Given the description of an element on the screen output the (x, y) to click on. 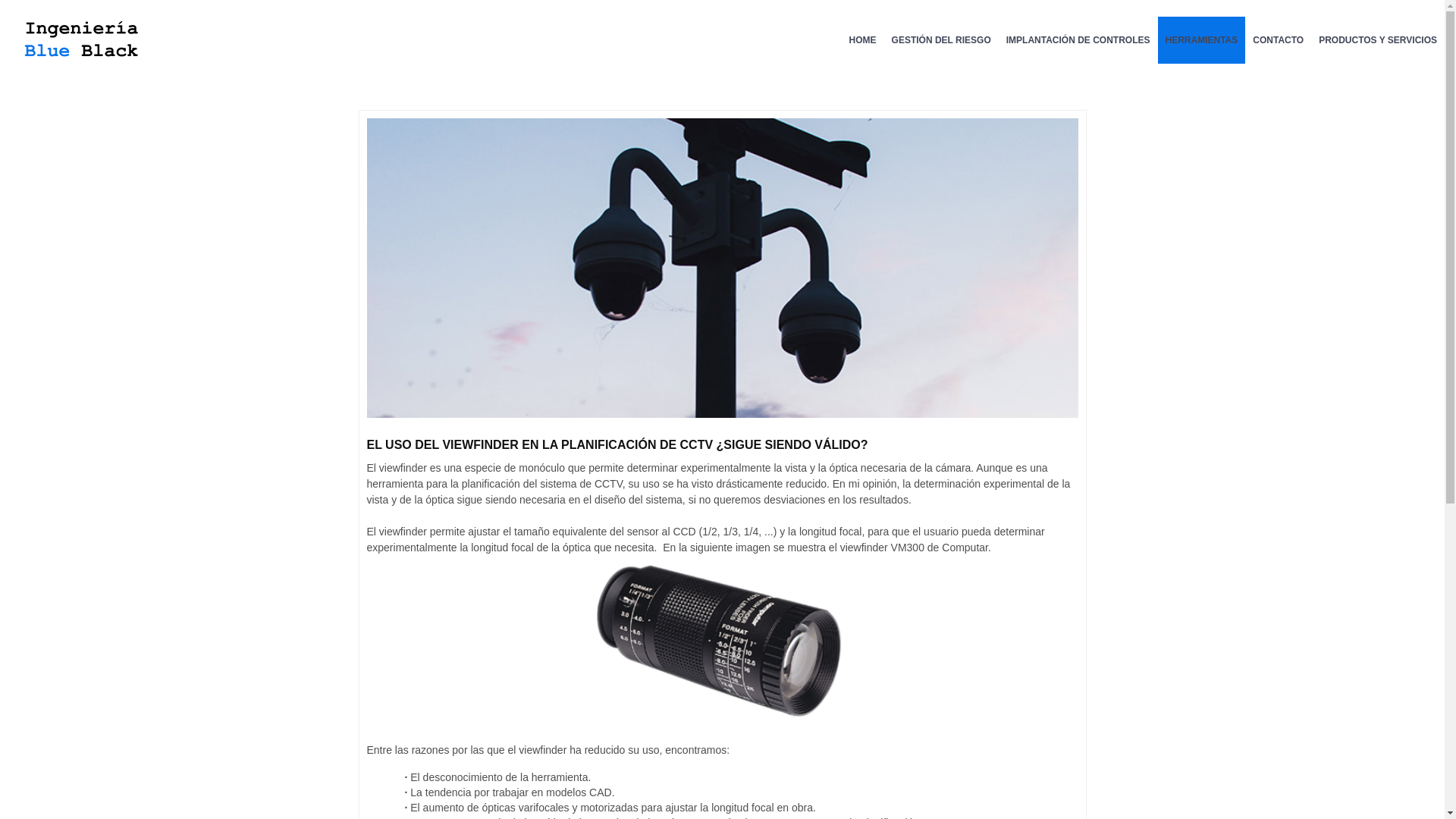
HOME Element type: text (862, 39)
HERRAMIENTAS Element type: text (1201, 39)
PRODUCTOS Y SERVICIOS Element type: text (1377, 39)
CONTACTO Element type: text (1278, 39)
